Given the description of an element on the screen output the (x, y) to click on. 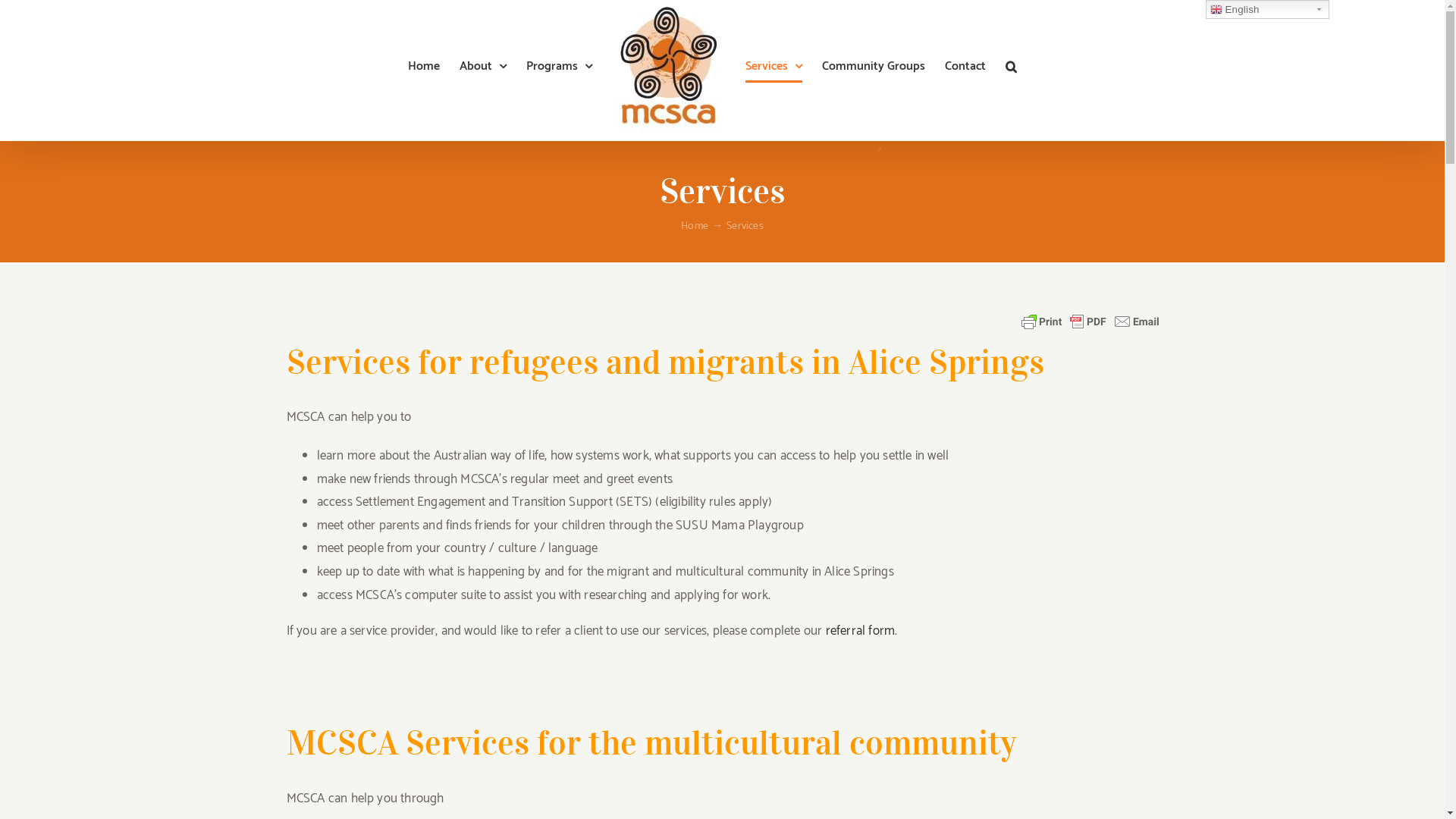
Services Element type: text (773, 66)
About Element type: text (482, 66)
Home Element type: text (423, 66)
Programs Element type: text (559, 66)
English Element type: text (1267, 9)
Home Element type: text (694, 226)
Community Groups Element type: text (873, 66)
referral form Element type: text (860, 630)
Contact Element type: text (964, 66)
Search Element type: hover (1010, 66)
Printer Friendly, PDF & Email Element type: hover (1091, 319)
